Given the description of an element on the screen output the (x, y) to click on. 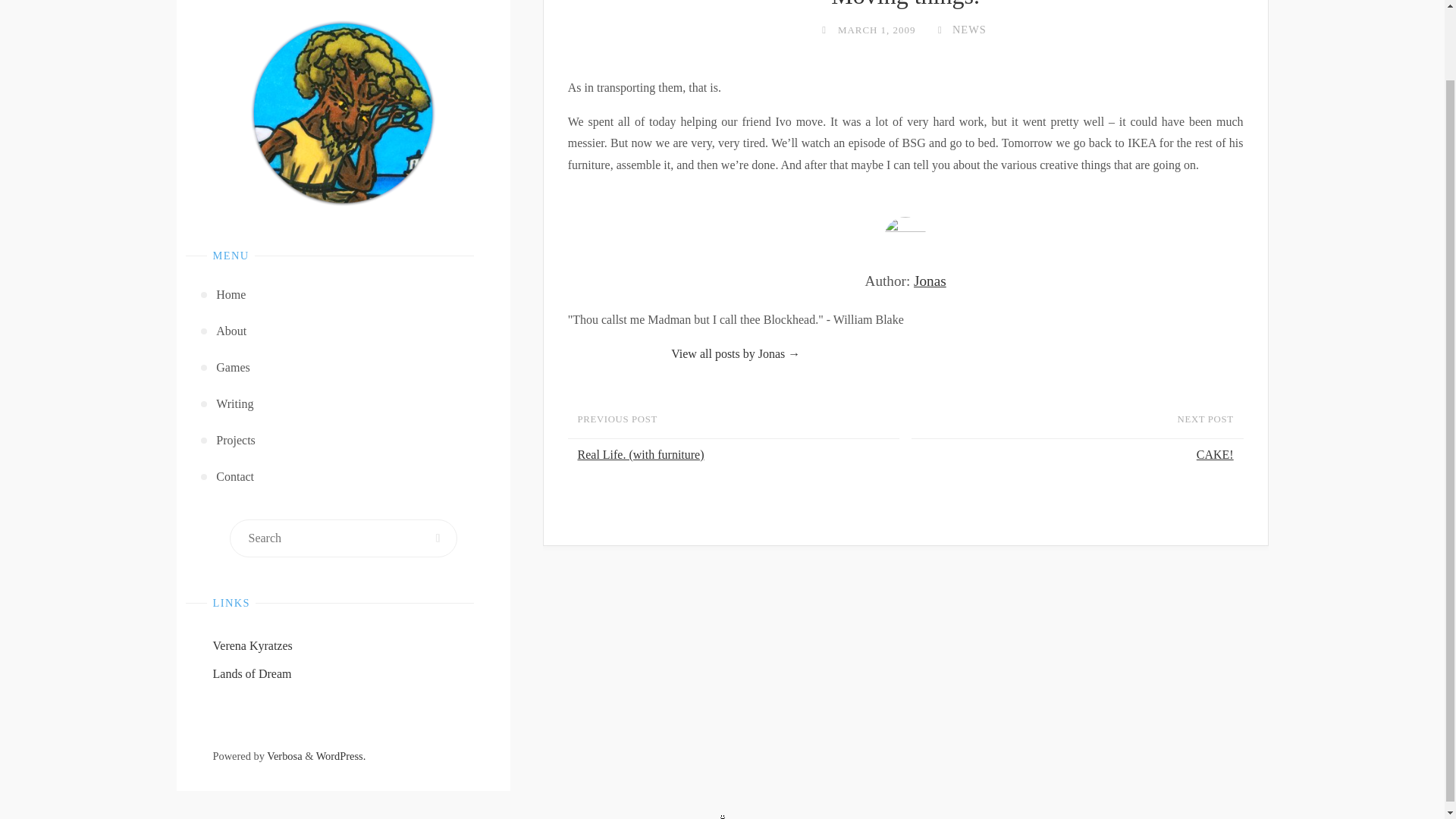
Verbosa (283, 756)
Semantic Personal Publishing Platform (340, 756)
CAKE! (1074, 455)
Games (344, 367)
Home (344, 294)
WordPress. (340, 756)
Verena Kyratzes (252, 645)
Contact (344, 476)
Writing (344, 403)
Projects (344, 440)
About (344, 330)
Verbosa Theme by Cryout Creations (283, 756)
Lands of Dream (251, 673)
NEWS (968, 29)
Date (823, 29)
